Given the description of an element on the screen output the (x, y) to click on. 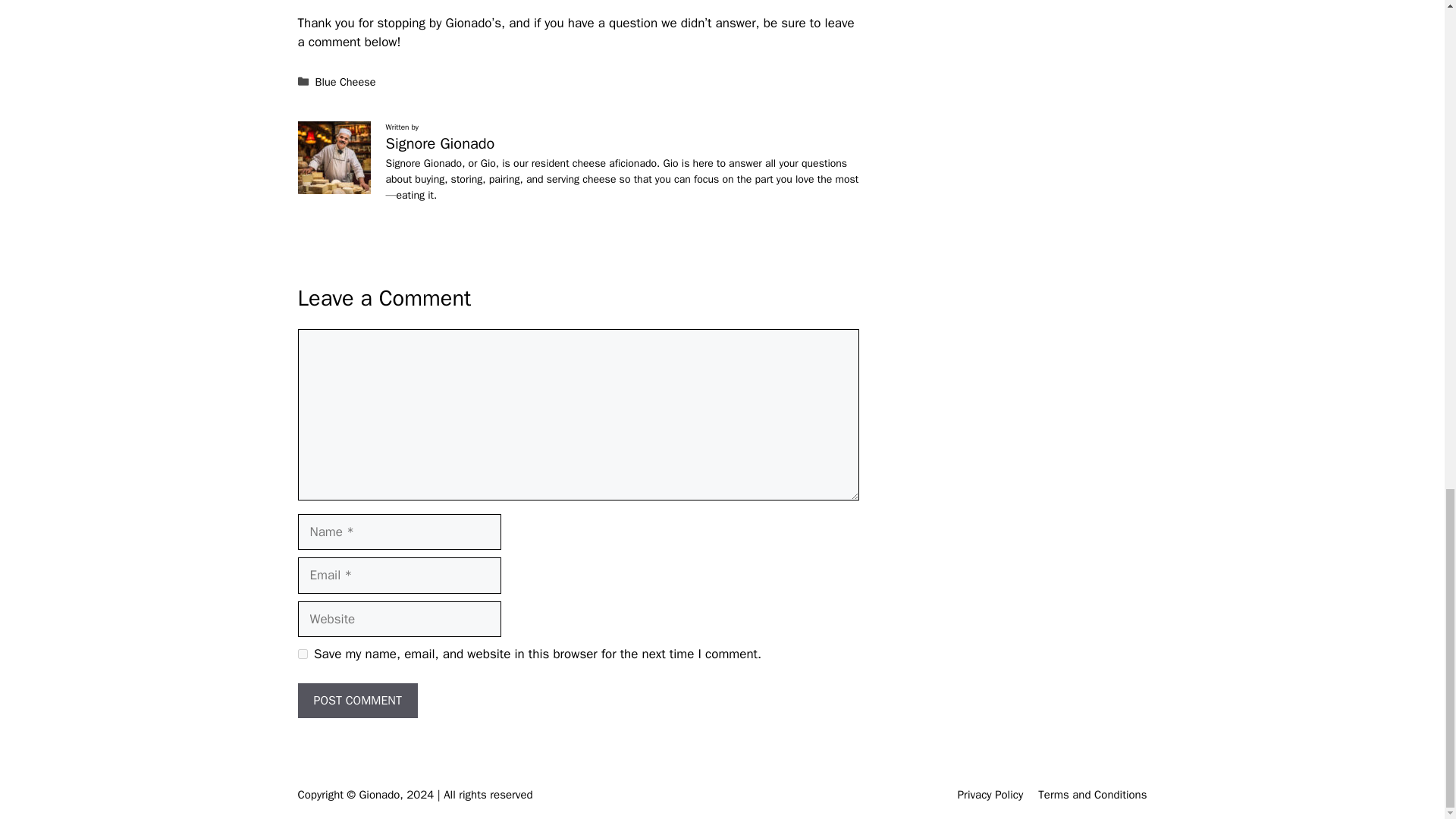
Blue Cheese (345, 81)
Post Comment (356, 700)
Privacy Policy (990, 794)
Signore Gionado (440, 143)
Terms and Conditions (1092, 794)
yes (302, 654)
Post Comment (356, 700)
